Given the description of an element on the screen output the (x, y) to click on. 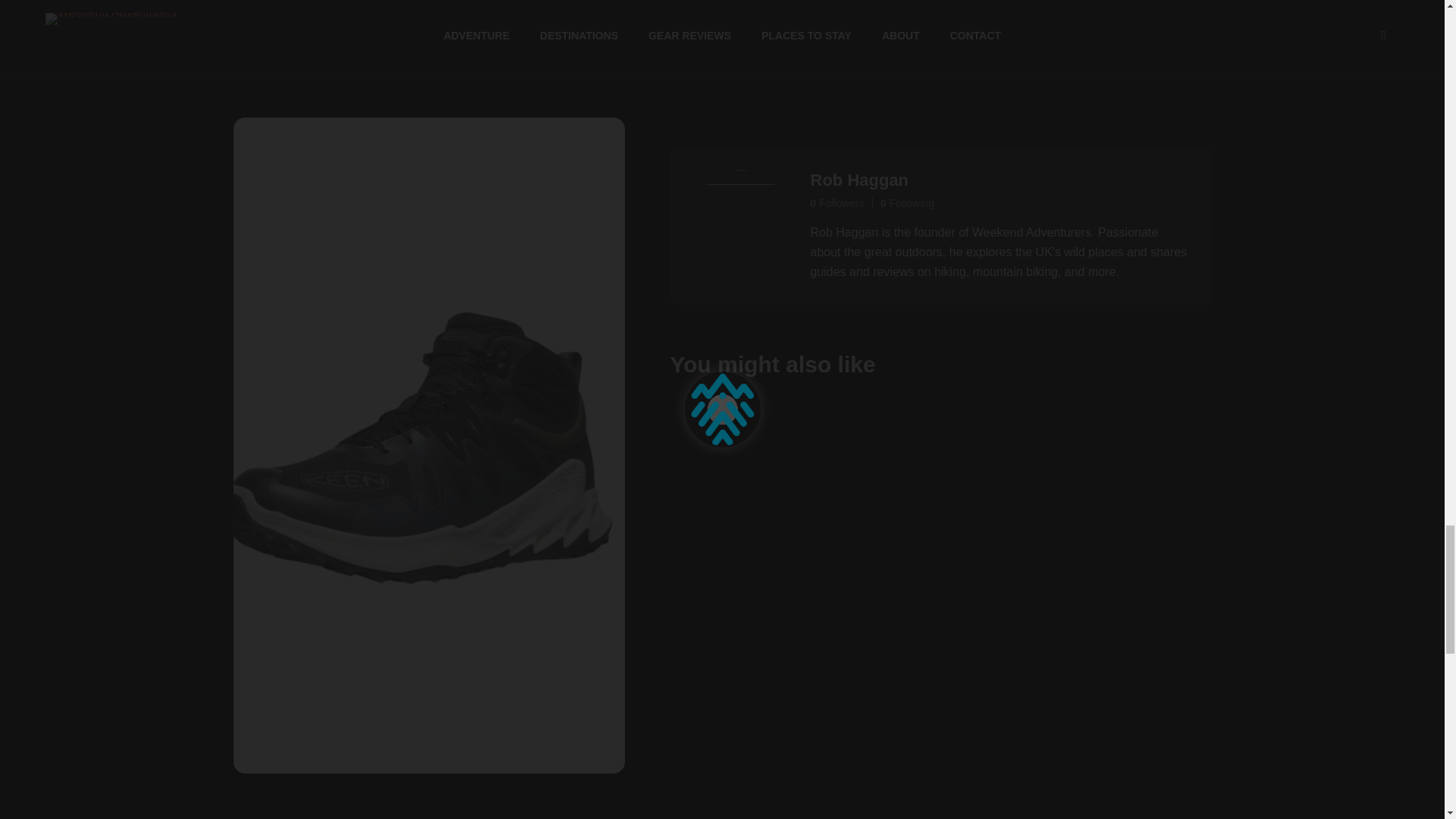
Follow (775, 246)
